Given the description of an element on the screen output the (x, y) to click on. 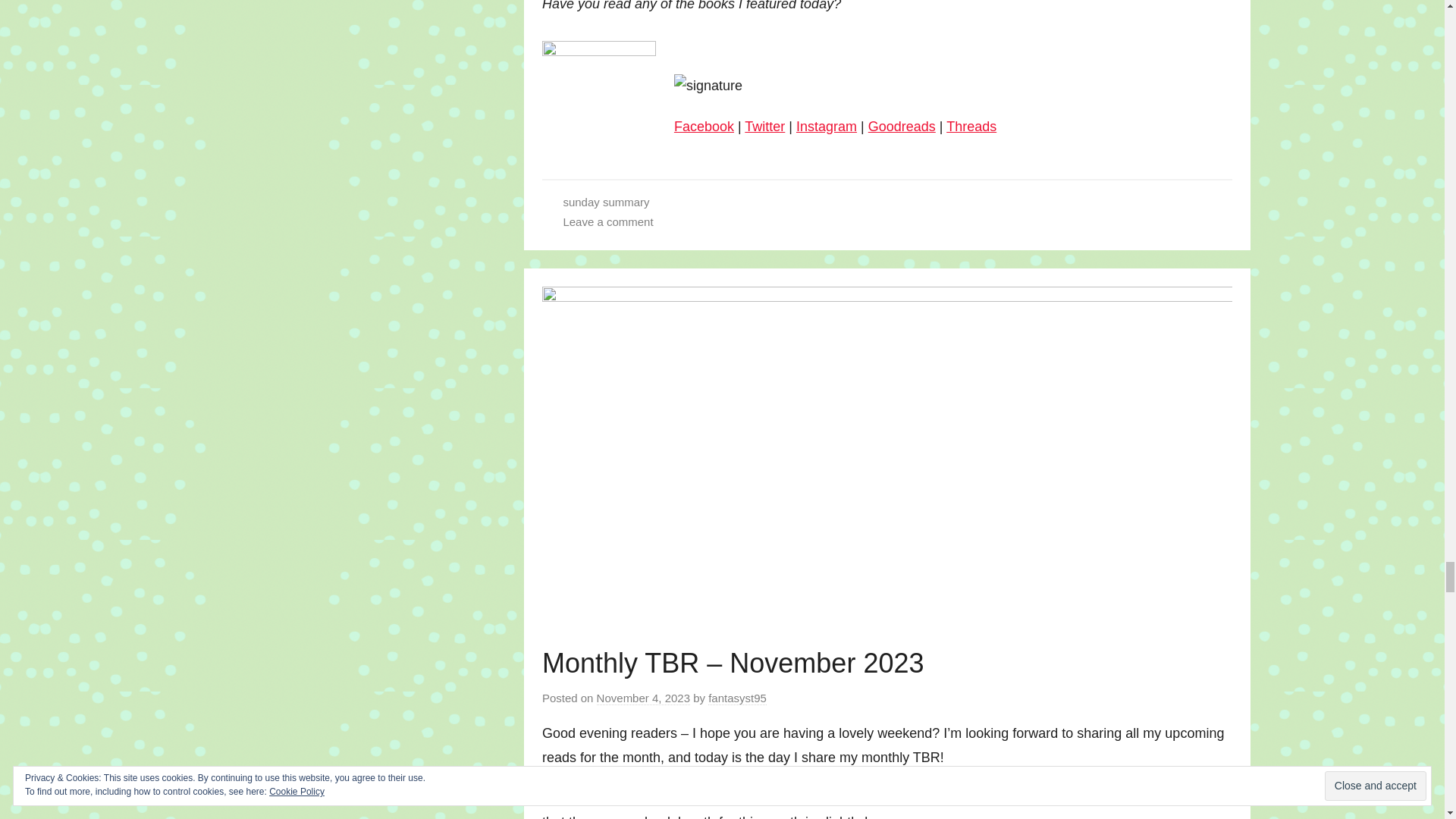
View all posts by fantasyst95 (737, 698)
